Given the description of an element on the screen output the (x, y) to click on. 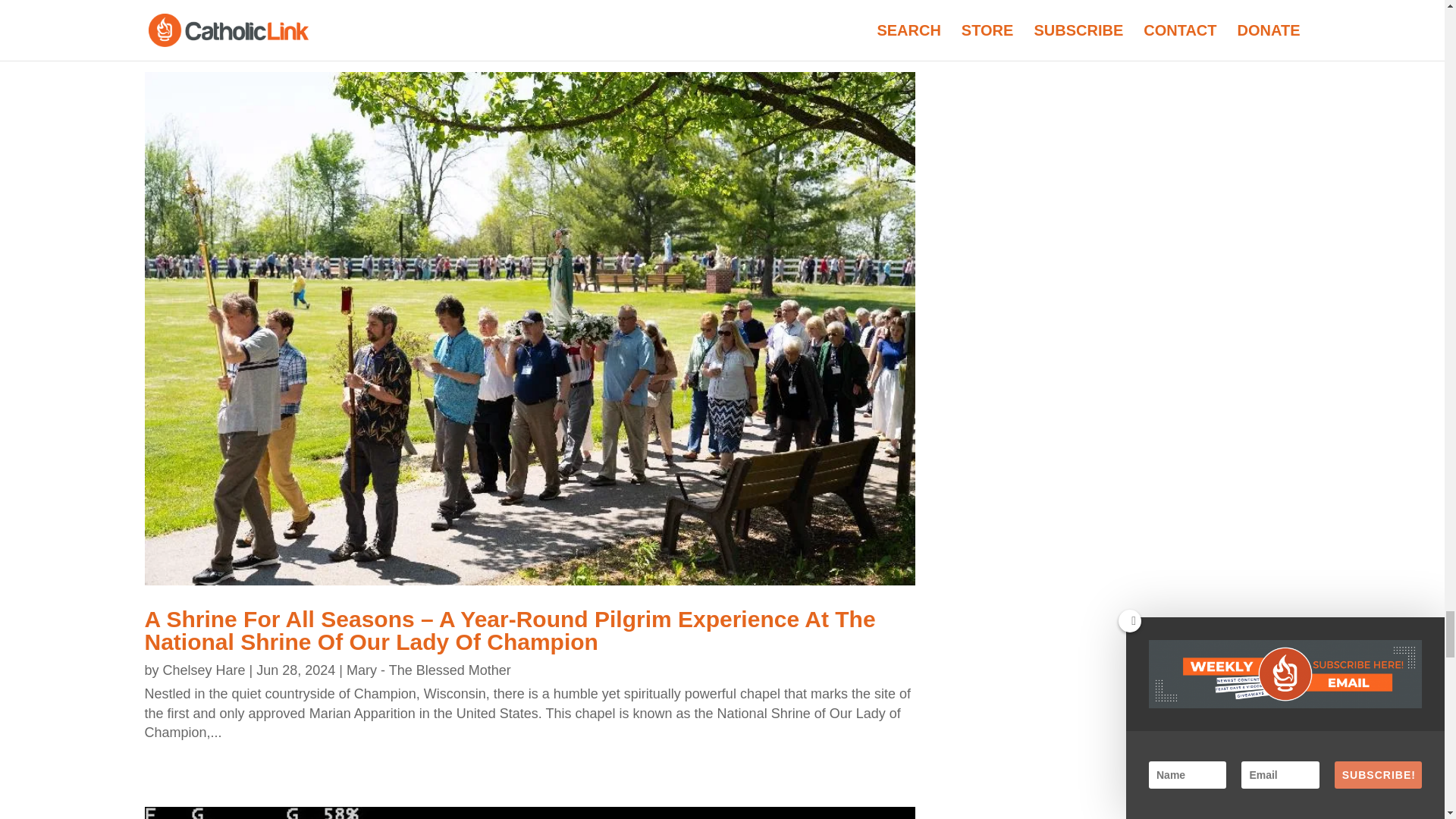
Posts by Chelsey Hare (204, 670)
